Given the description of an element on the screen output the (x, y) to click on. 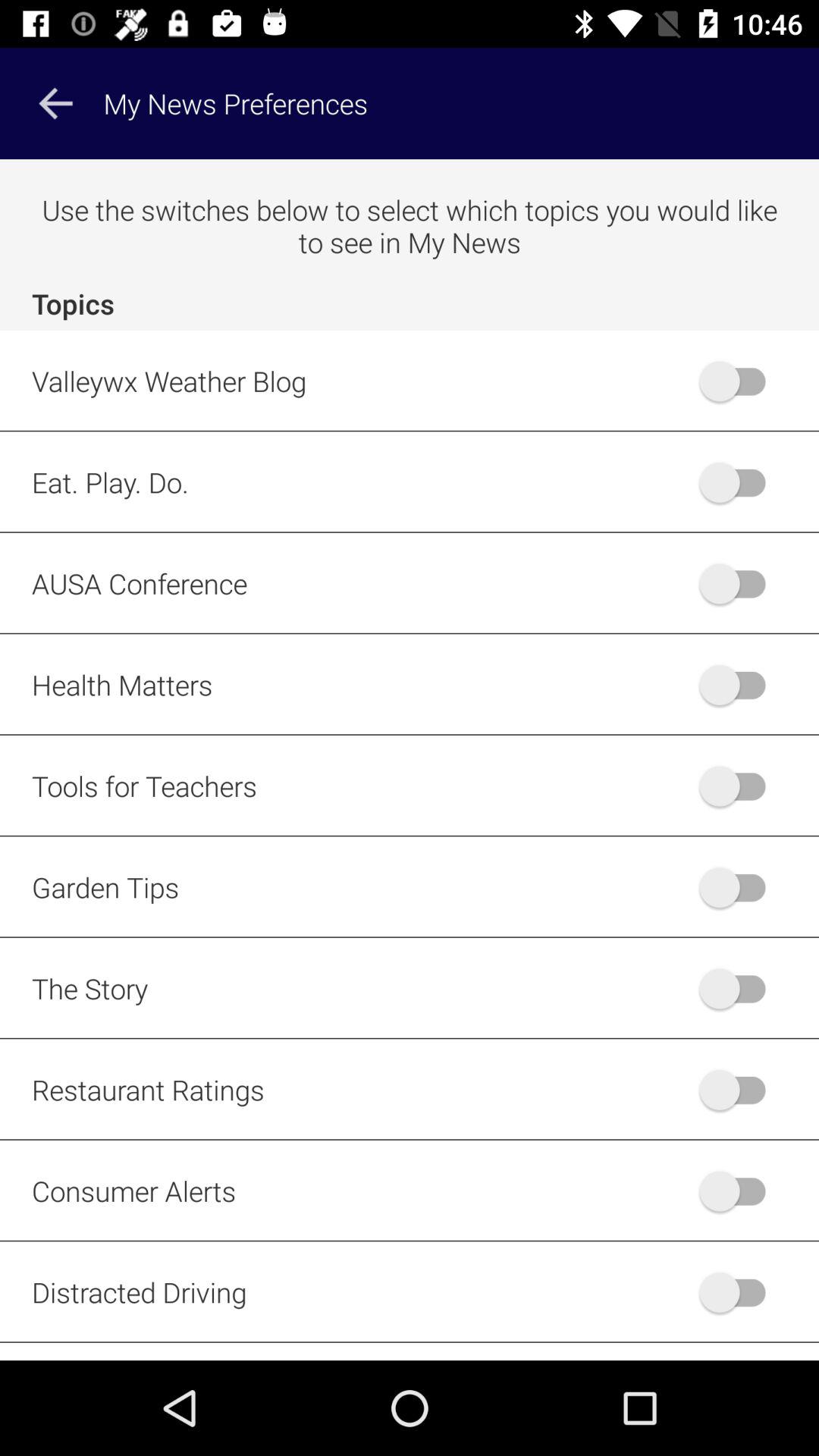
turn preference on and off (739, 684)
